Given the description of an element on the screen output the (x, y) to click on. 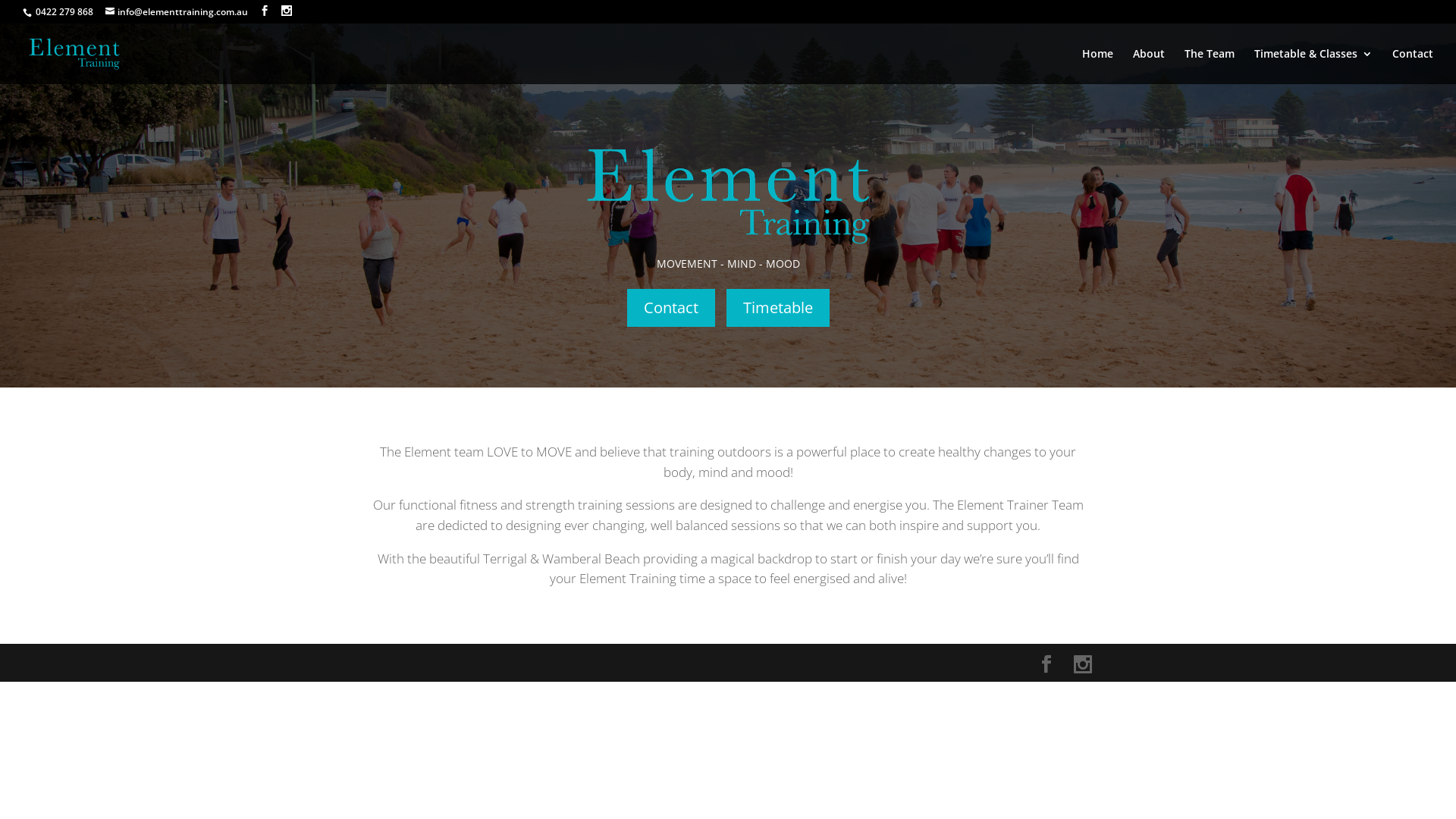
Timetable & Classes Element type: text (1313, 66)
info@elementtraining.com.au Element type: text (176, 11)
The Team Element type: text (1209, 66)
Contact Element type: text (670, 307)
Contact Element type: text (1412, 66)
About Element type: text (1148, 66)
Home Element type: text (1097, 66)
Timetable Element type: text (777, 307)
